Given the description of an element on the screen output the (x, y) to click on. 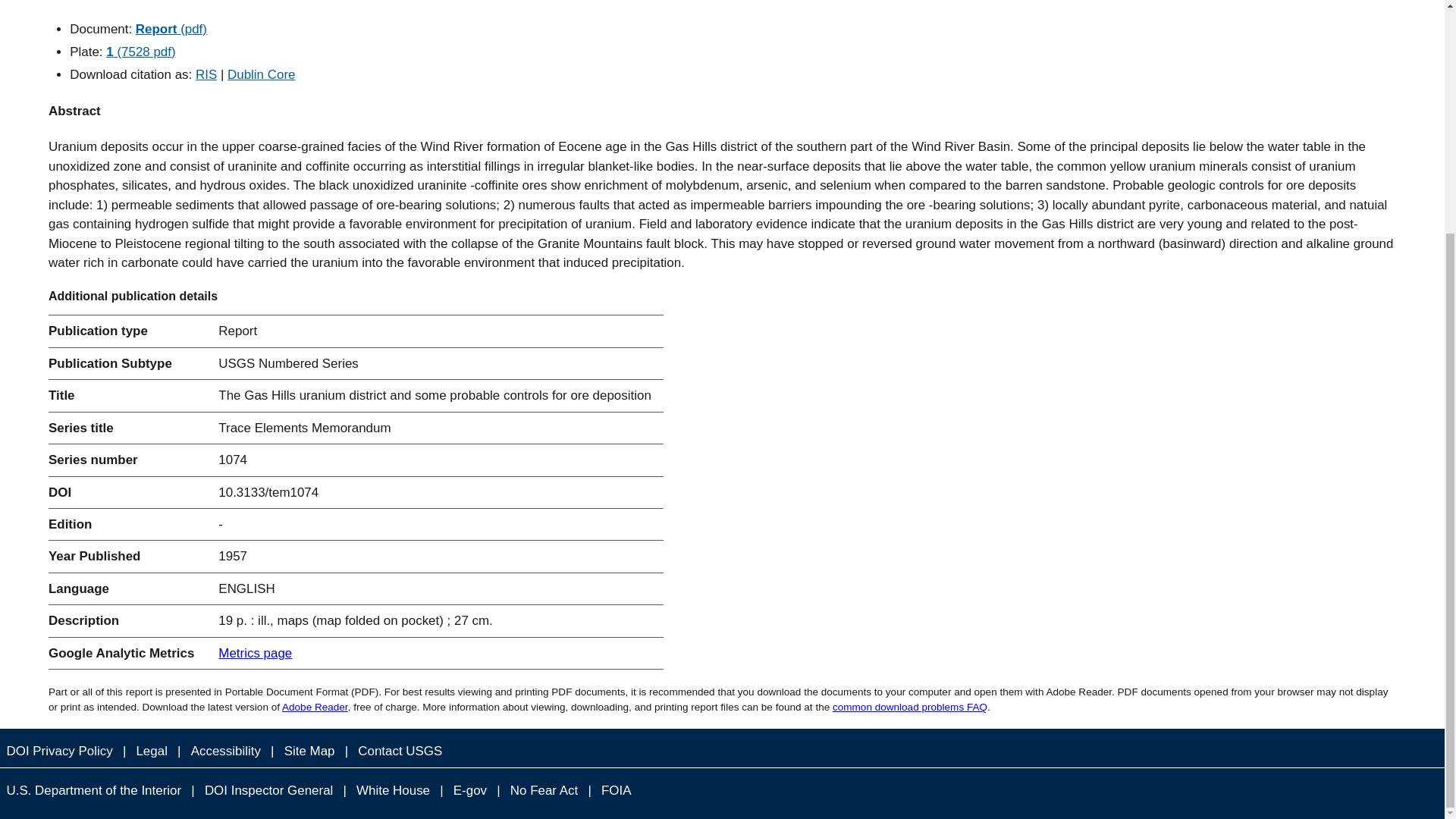
U.S. Department of the Interior (93, 789)
 Document (170, 29)
No Fear Act (543, 789)
Metrics page (255, 653)
Legal (151, 751)
Contact USGS (400, 751)
White House (393, 789)
E-gov (469, 789)
DOI Inspector General (268, 789)
 Plate (140, 51)
FOIA (616, 789)
Site Map (309, 751)
Adobe Reader (314, 706)
Dublin Core (261, 74)
common download problems FAQ (909, 706)
